Given the description of an element on the screen output the (x, y) to click on. 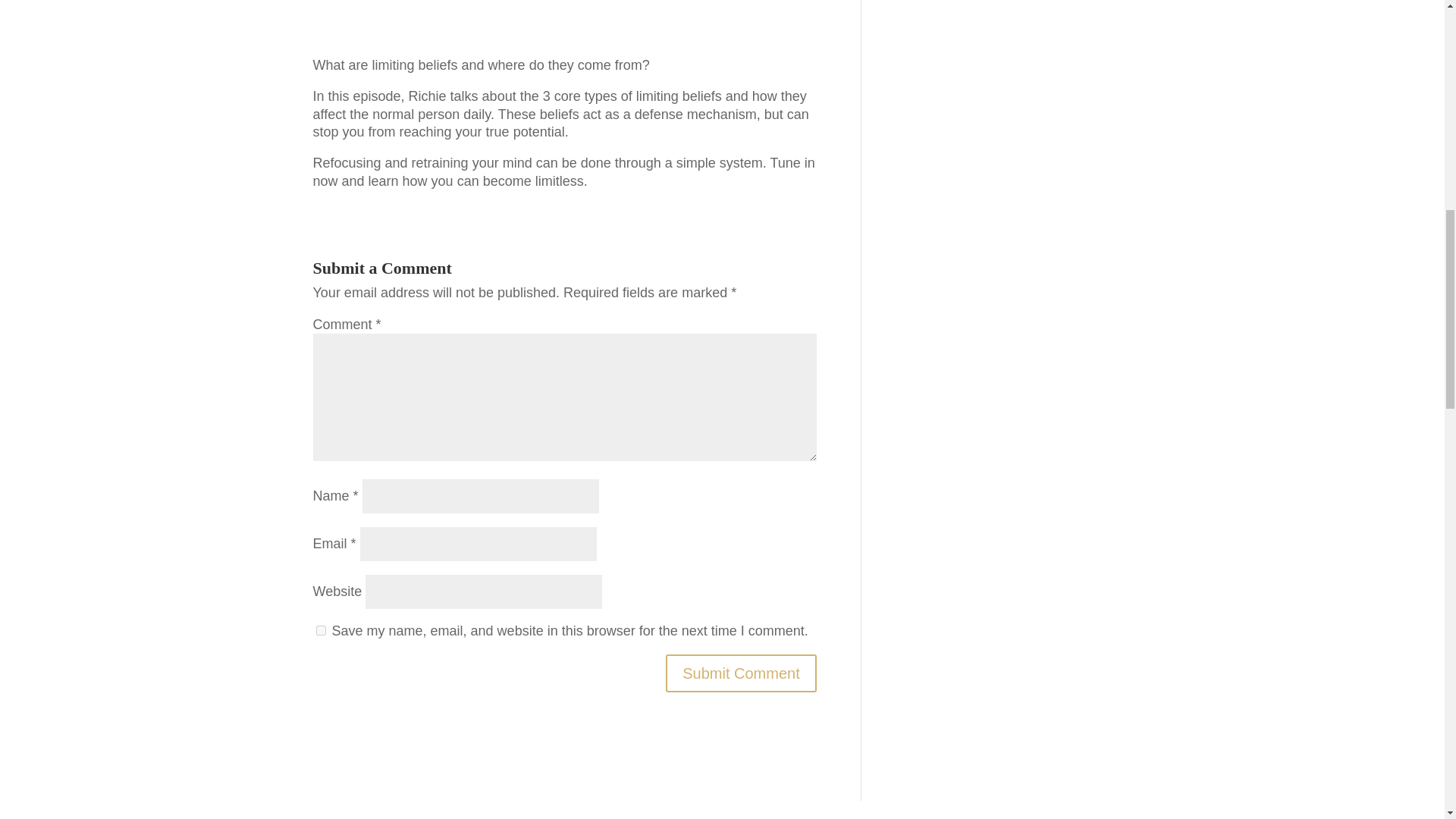
Submit Comment (740, 673)
Submit Comment (740, 673)
yes (319, 630)
